Given the description of an element on the screen output the (x, y) to click on. 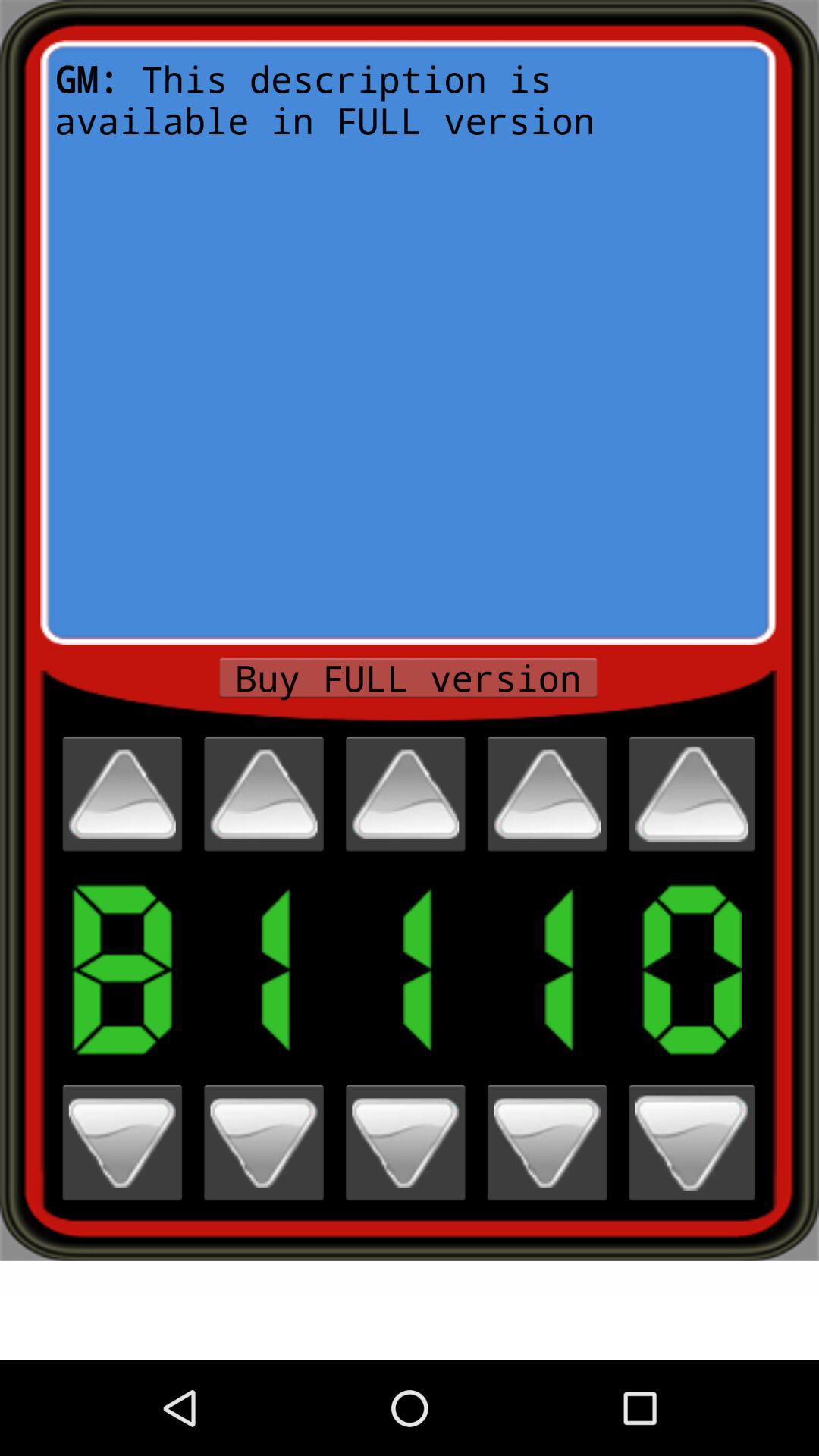
decrease third value from the left (405, 1142)
